Given the description of an element on the screen output the (x, y) to click on. 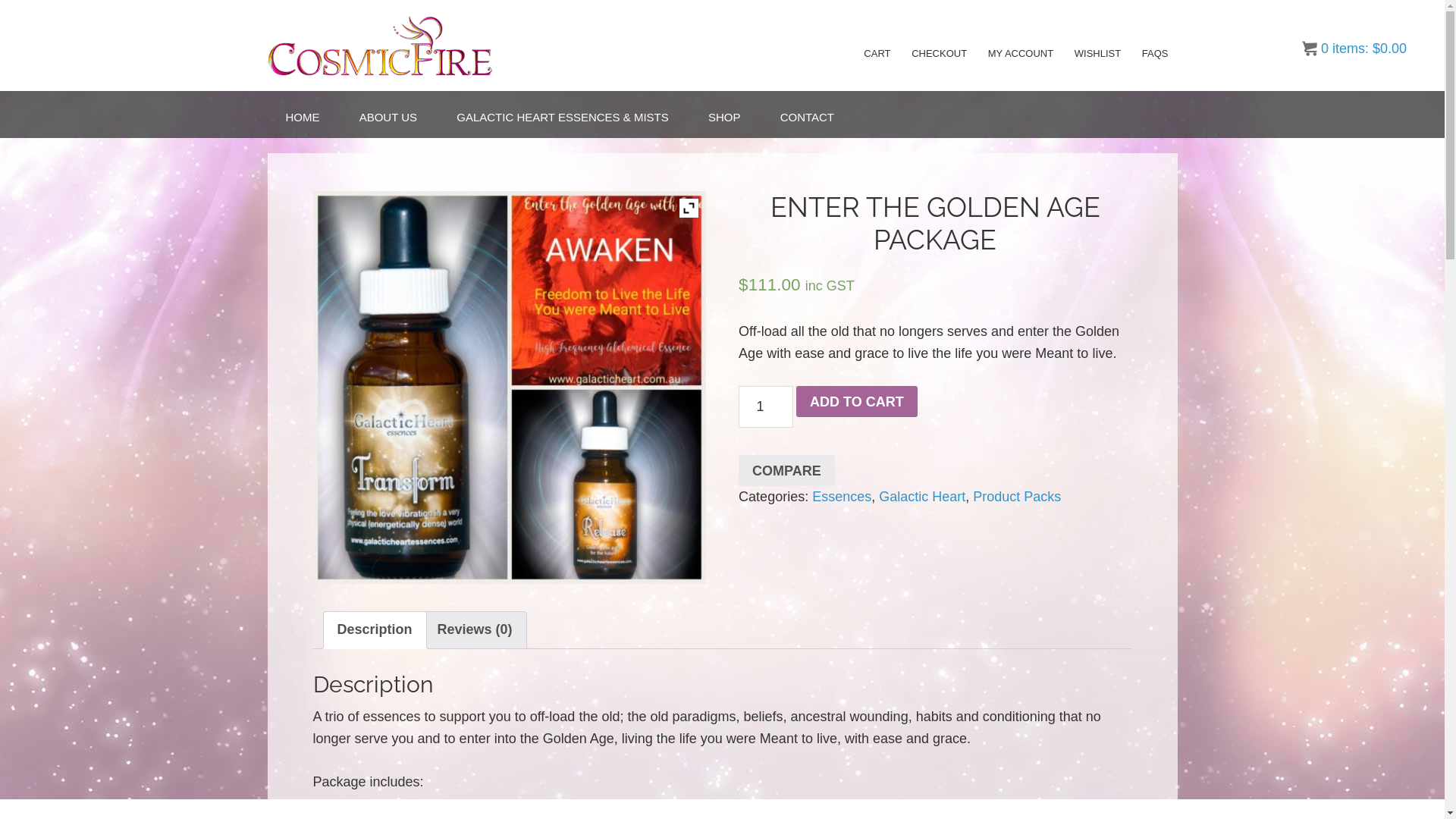
ABOUT US Element type: text (388, 117)
HOME Element type: text (301, 117)
Collage 2020-11-20 14_45_48 Element type: hover (508, 387)
SHOP Element type: text (724, 117)
WISHLIST Element type: text (1097, 52)
COMPARE Element type: text (786, 470)
GALACTIC HEART ESSENCES & MISTS Element type: text (562, 117)
Reviews (0) Element type: text (474, 629)
Essences Element type: text (841, 496)
Description Element type: text (373, 629)
MY ACCOUNT Element type: text (1020, 52)
Skip to primary navigation Element type: text (0, 0)
FAQS Element type: text (1154, 52)
CHECKOUT Element type: text (938, 52)
Cosmic Fire Element type: text (402, 45)
Product Packs Element type: text (1016, 496)
Galactic Heart Element type: text (921, 496)
0 items: $0.00 Element type: text (1354, 48)
CONTACT Element type: text (807, 117)
ADD TO CART Element type: text (856, 400)
CART Element type: text (876, 52)
